Given the description of an element on the screen output the (x, y) to click on. 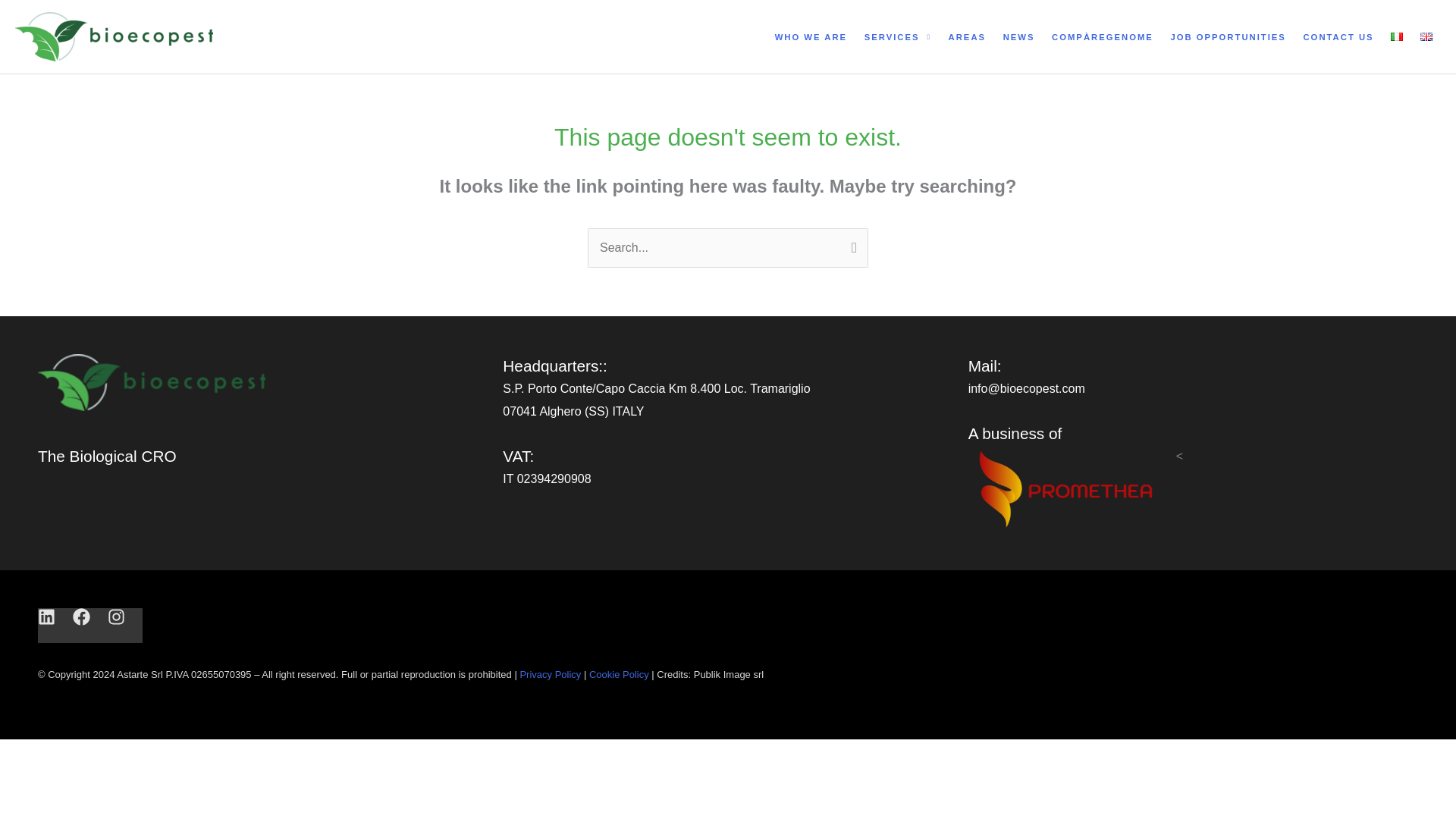
SERVICES (897, 36)
CONTACT US (1337, 36)
Search (850, 245)
NEWS (1018, 36)
Search (850, 245)
AREAS (966, 36)
WHO WE ARE (810, 36)
JOB OPPORTUNITIES (1227, 36)
